Given the description of an element on the screen output the (x, y) to click on. 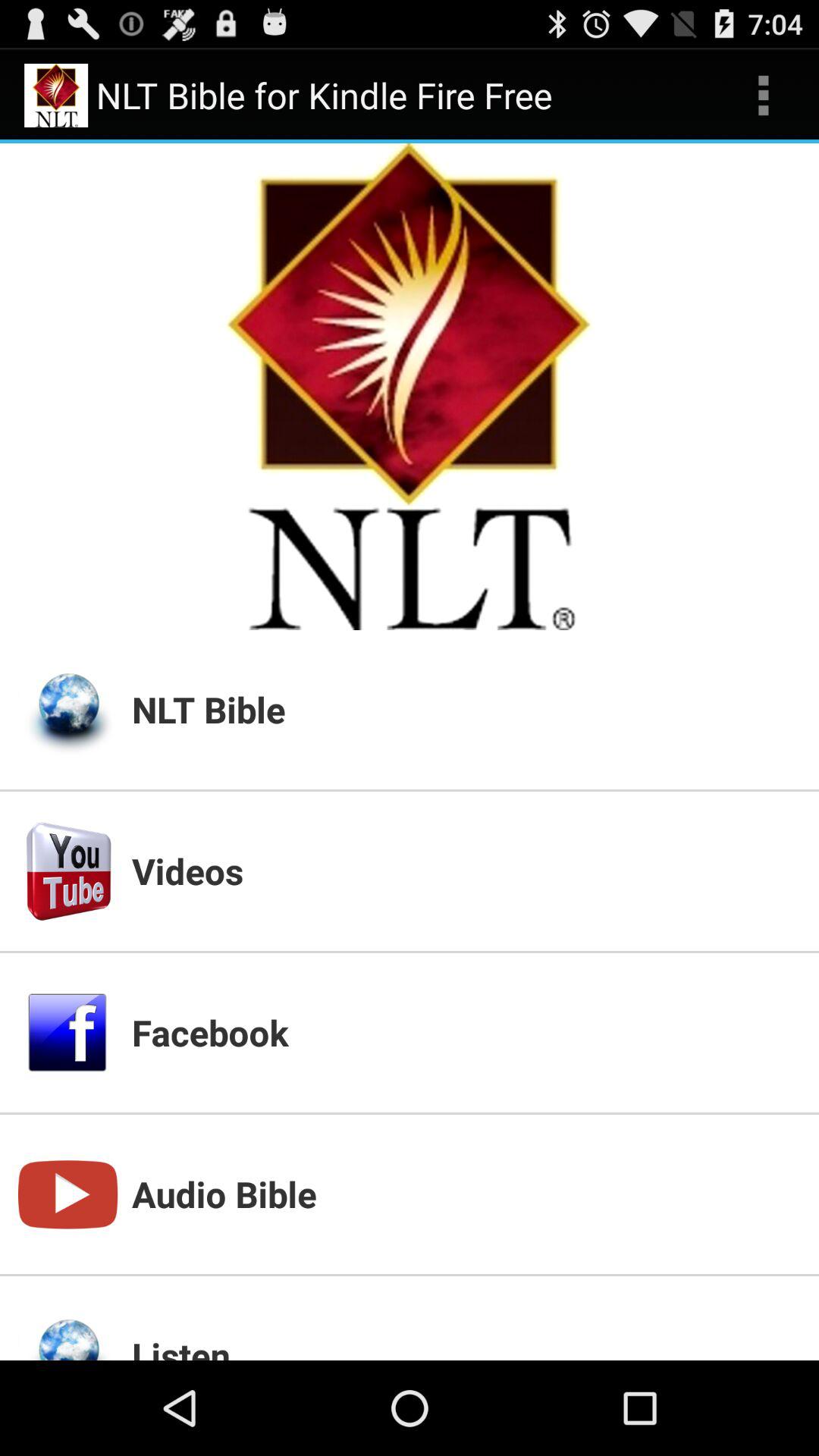
launch the icon below facebook icon (465, 1193)
